Given the description of an element on the screen output the (x, y) to click on. 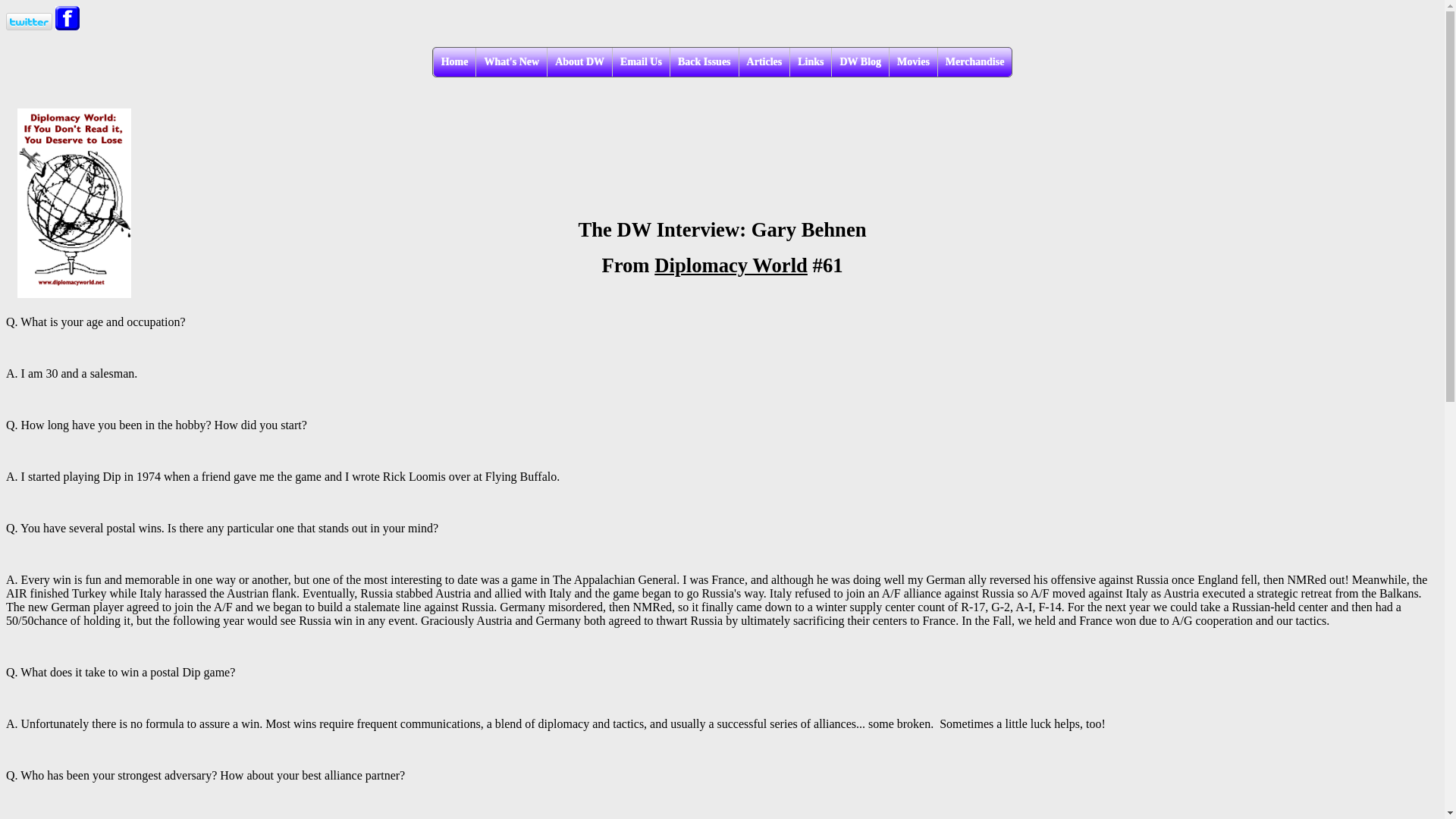
Back Issues (703, 61)
Links (810, 61)
Articles (764, 61)
What's New (511, 61)
About DW (579, 61)
DW Blog (859, 61)
Movies (912, 61)
Email Us (640, 61)
Home (454, 61)
Merchandise (974, 61)
